Given the description of an element on the screen output the (x, y) to click on. 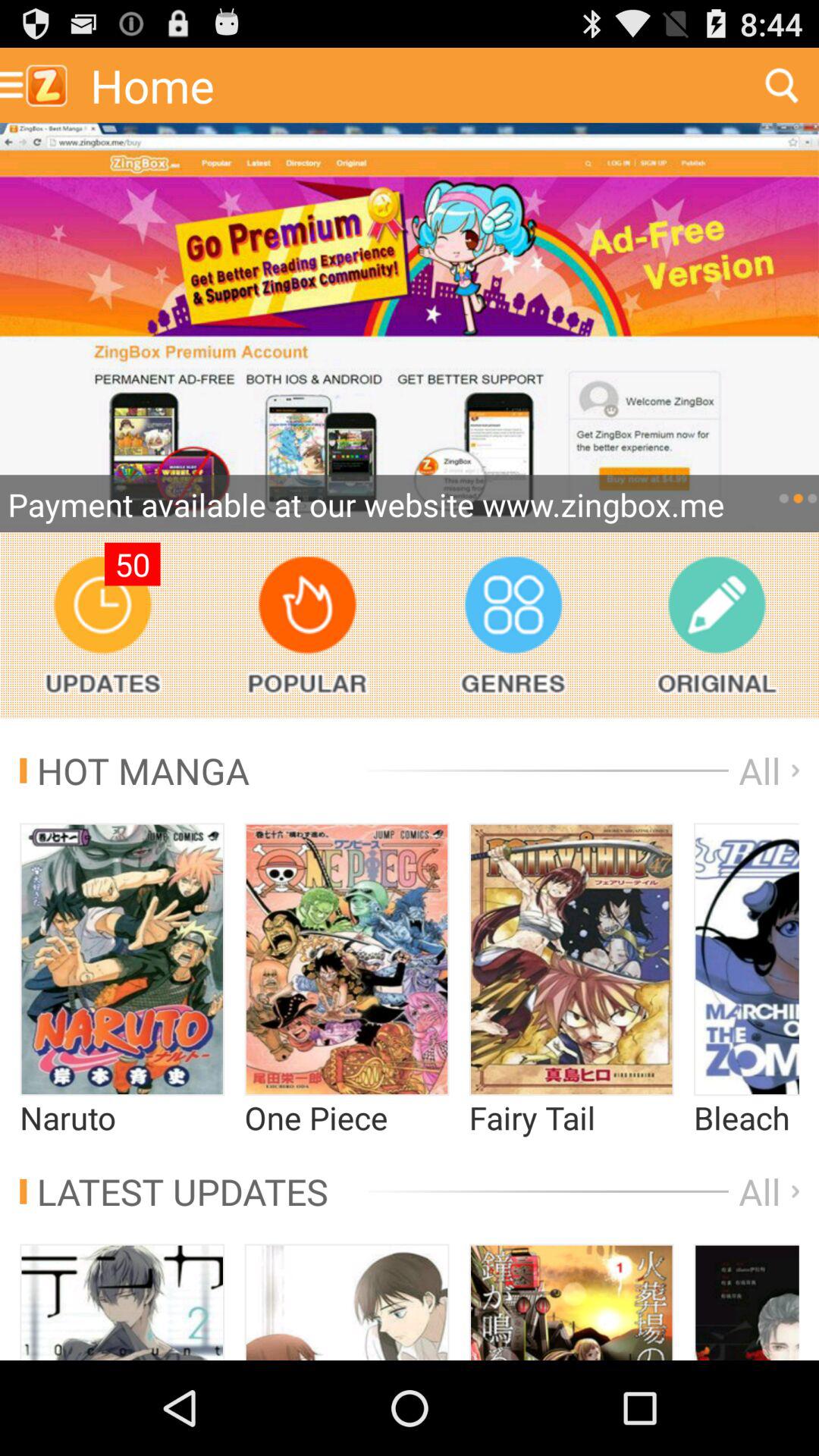
expand episode details (121, 958)
